Given the description of an element on the screen output the (x, y) to click on. 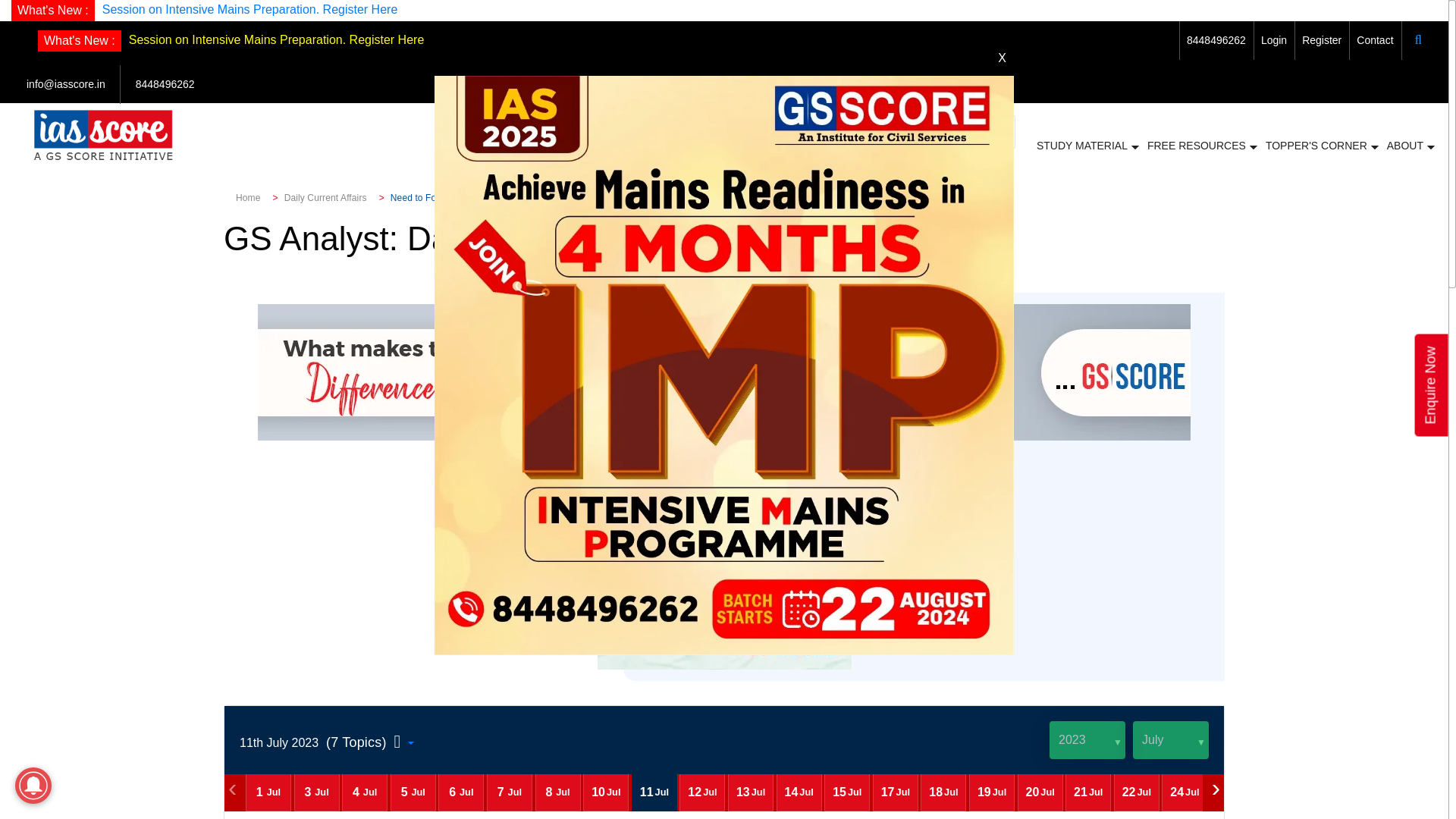
All Courses (718, 145)
Session on Intensive Mains Preparation. Register Here (249, 9)
8448496262 (1216, 39)
Session on Intensive Mains Preparation. Register Here (277, 39)
Register (1320, 39)
Login (1273, 39)
8448496262 (165, 83)
Contact (1374, 39)
